Given the description of an element on the screen output the (x, y) to click on. 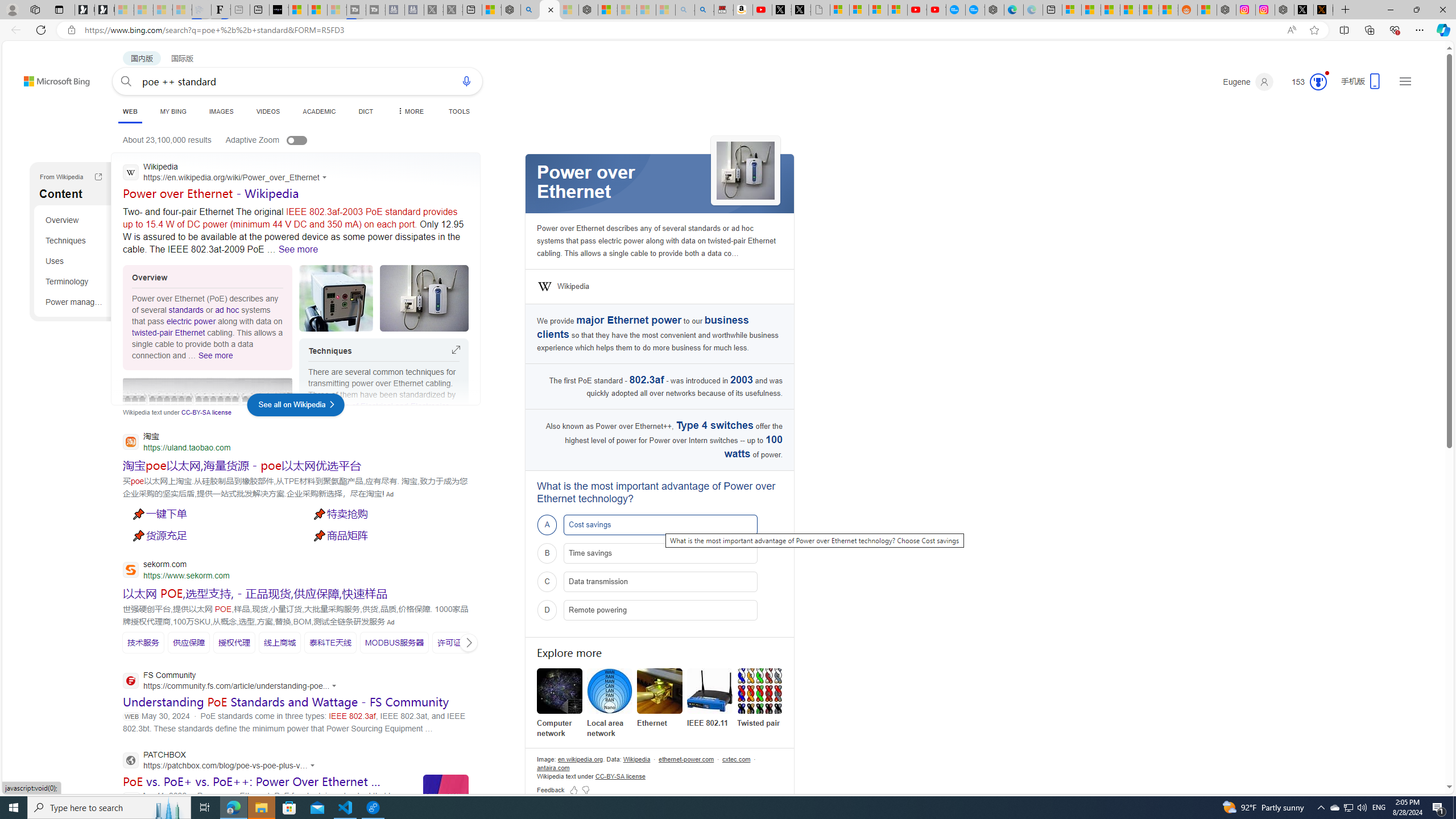
Overview image (424, 298)
SERP,5920 (388, 535)
From Wikipedia (97, 178)
SERP,5928 (234, 642)
SERP,5929 (279, 642)
IEEE 802.11 (709, 698)
SERP,5930 (329, 642)
Microsoft Rewards 153 (1304, 81)
Nordace - Nordace Siena Is Not An Ordinary Backpack (587, 9)
New tab - Sleeping (239, 9)
